Given the description of an element on the screen output the (x, y) to click on. 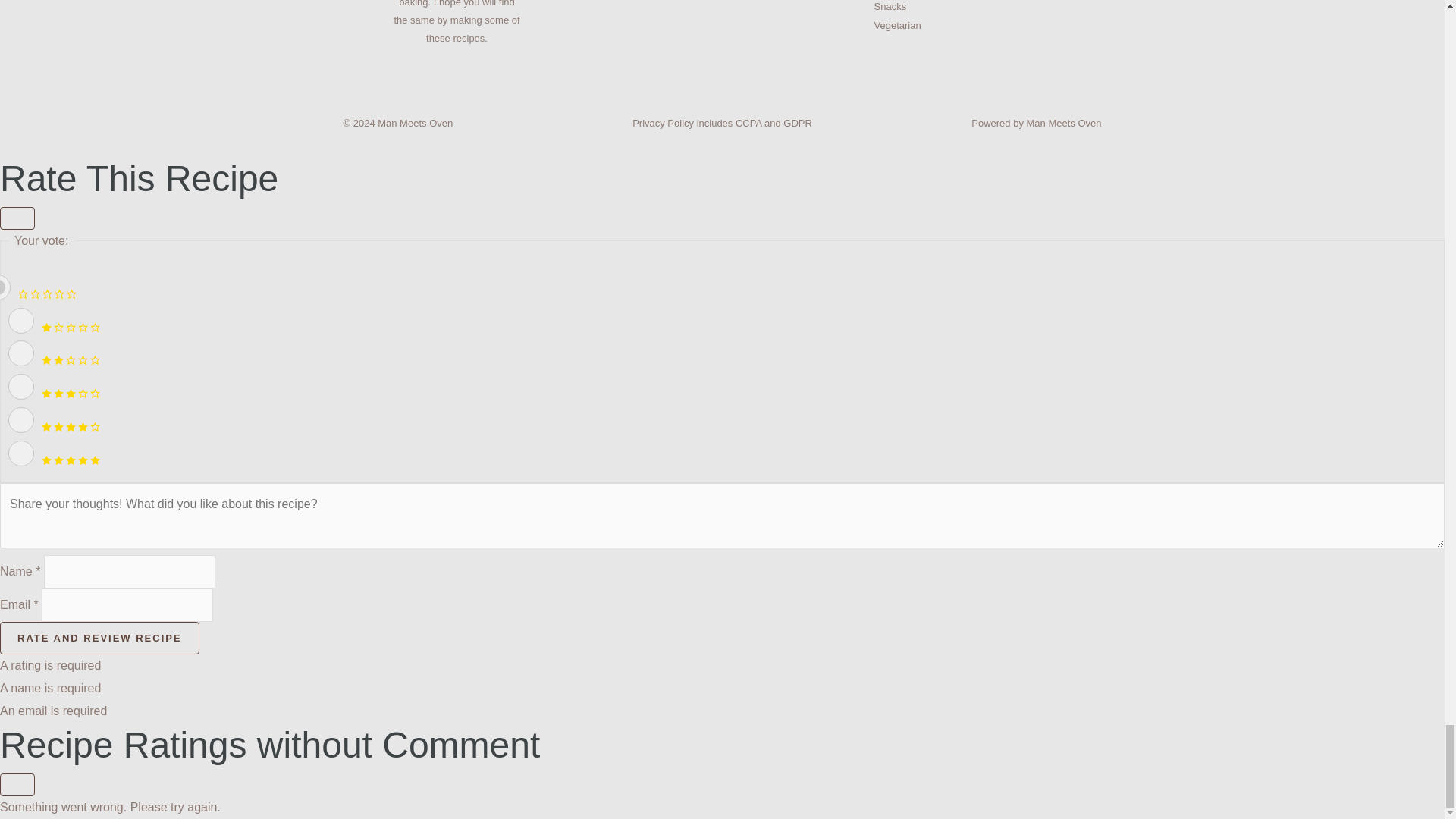
3 (20, 386)
1 (20, 320)
5 (20, 453)
4 (20, 420)
2 (20, 353)
